Given the description of an element on the screen output the (x, y) to click on. 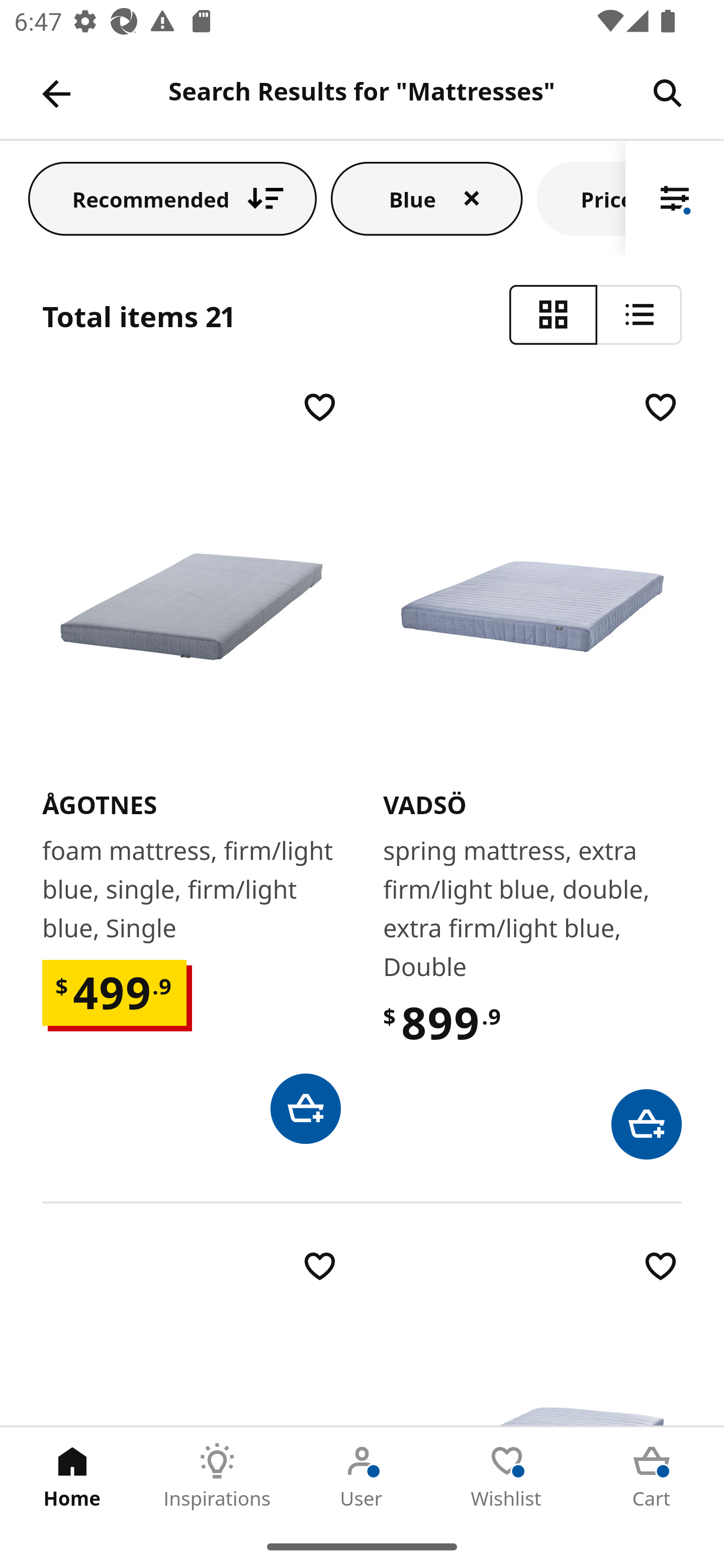
Recommended (172, 198)
Blue (426, 198)
Home
Tab 1 of 5 (72, 1476)
Inspirations
Tab 2 of 5 (216, 1476)
User
Tab 3 of 5 (361, 1476)
Wishlist
Tab 4 of 5 (506, 1476)
Cart
Tab 5 of 5 (651, 1476)
